Given the description of an element on the screen output the (x, y) to click on. 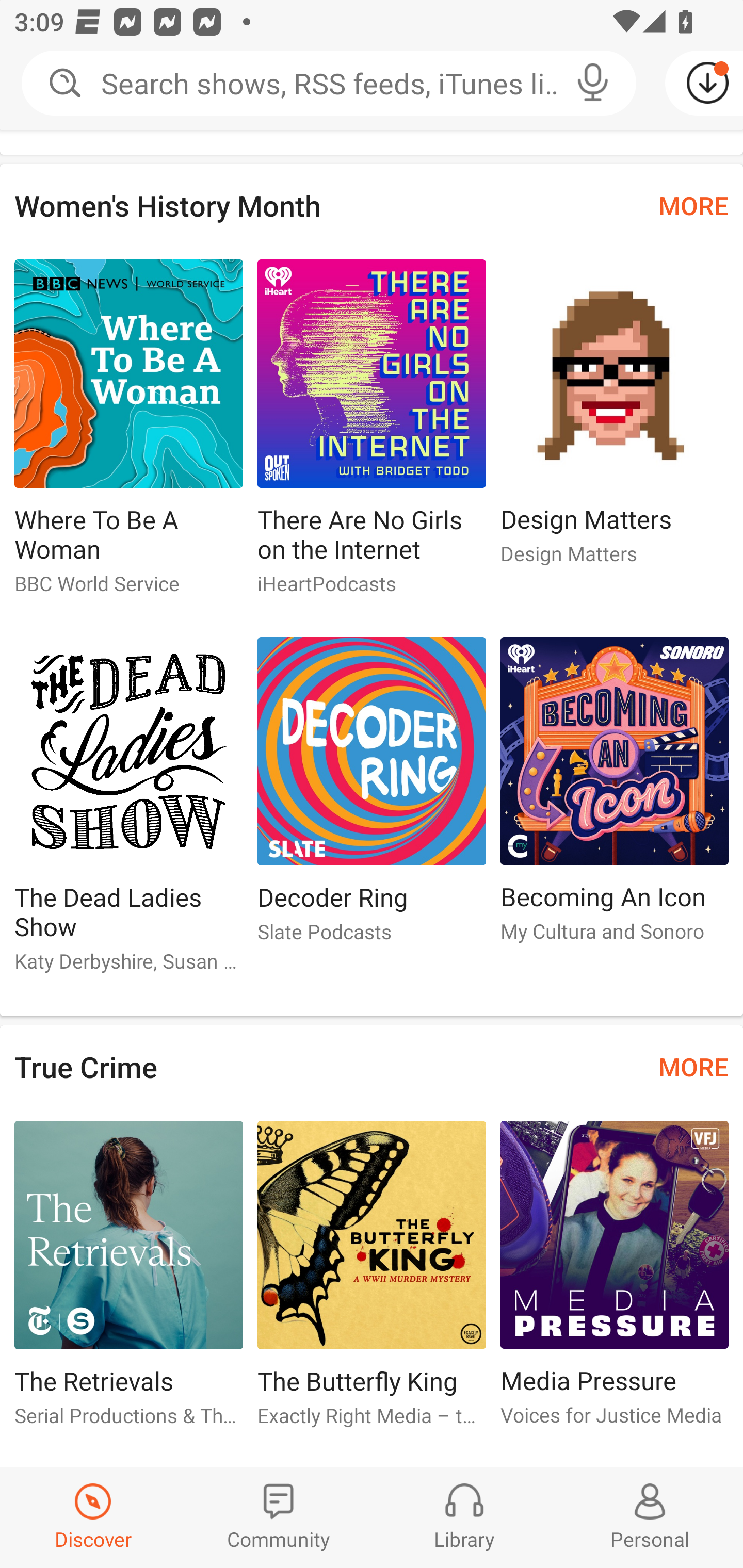
MORE (693, 205)
Design Matters Design Matters Design Matters (614, 419)
Decoder Ring Decoder Ring Slate Podcasts (371, 797)
MORE (693, 1065)
Discover (92, 1517)
Community (278, 1517)
Library (464, 1517)
Profiles and Settings Personal (650, 1517)
